Given the description of an element on the screen output the (x, y) to click on. 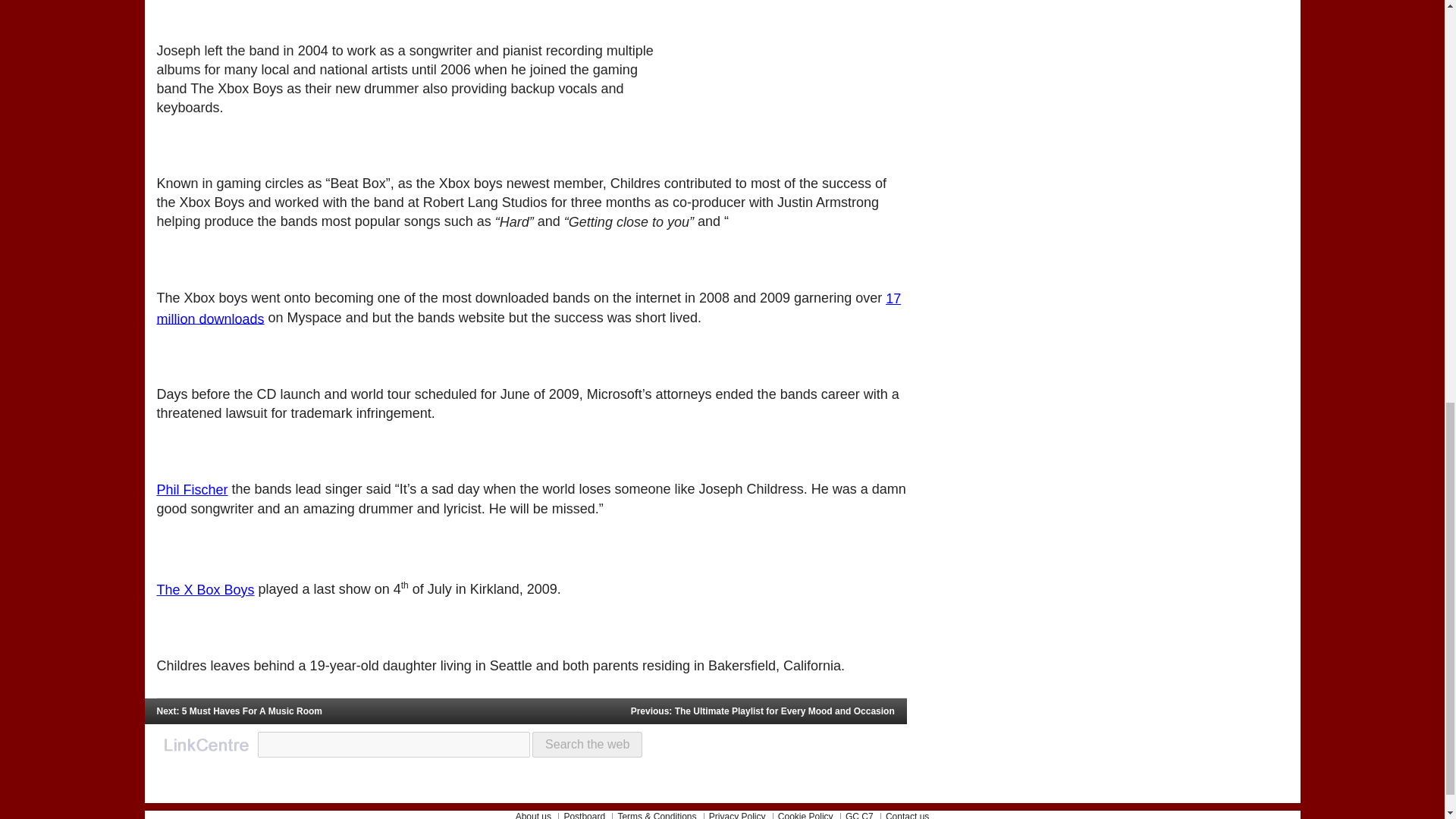
Search the web (587, 744)
Advertisement (793, 38)
Search the web (587, 744)
